Given the description of an element on the screen output the (x, y) to click on. 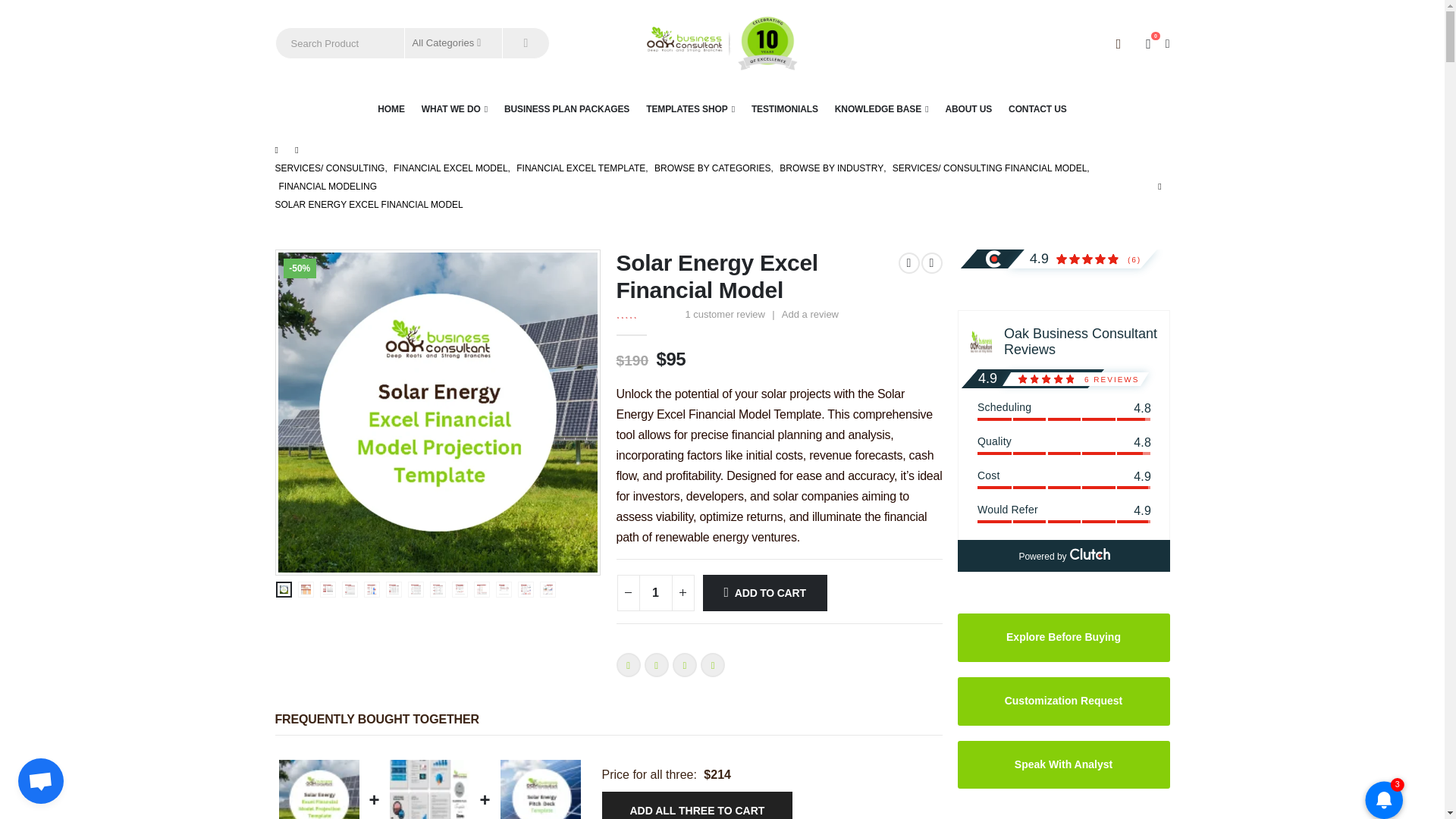
Solar Energy Financial Model - Product Image (437, 411)
1 (655, 592)
WHAT WE DO (454, 108)
My Account (1117, 44)
HOME (390, 108)
Search (525, 42)
